Given the description of an element on the screen output the (x, y) to click on. 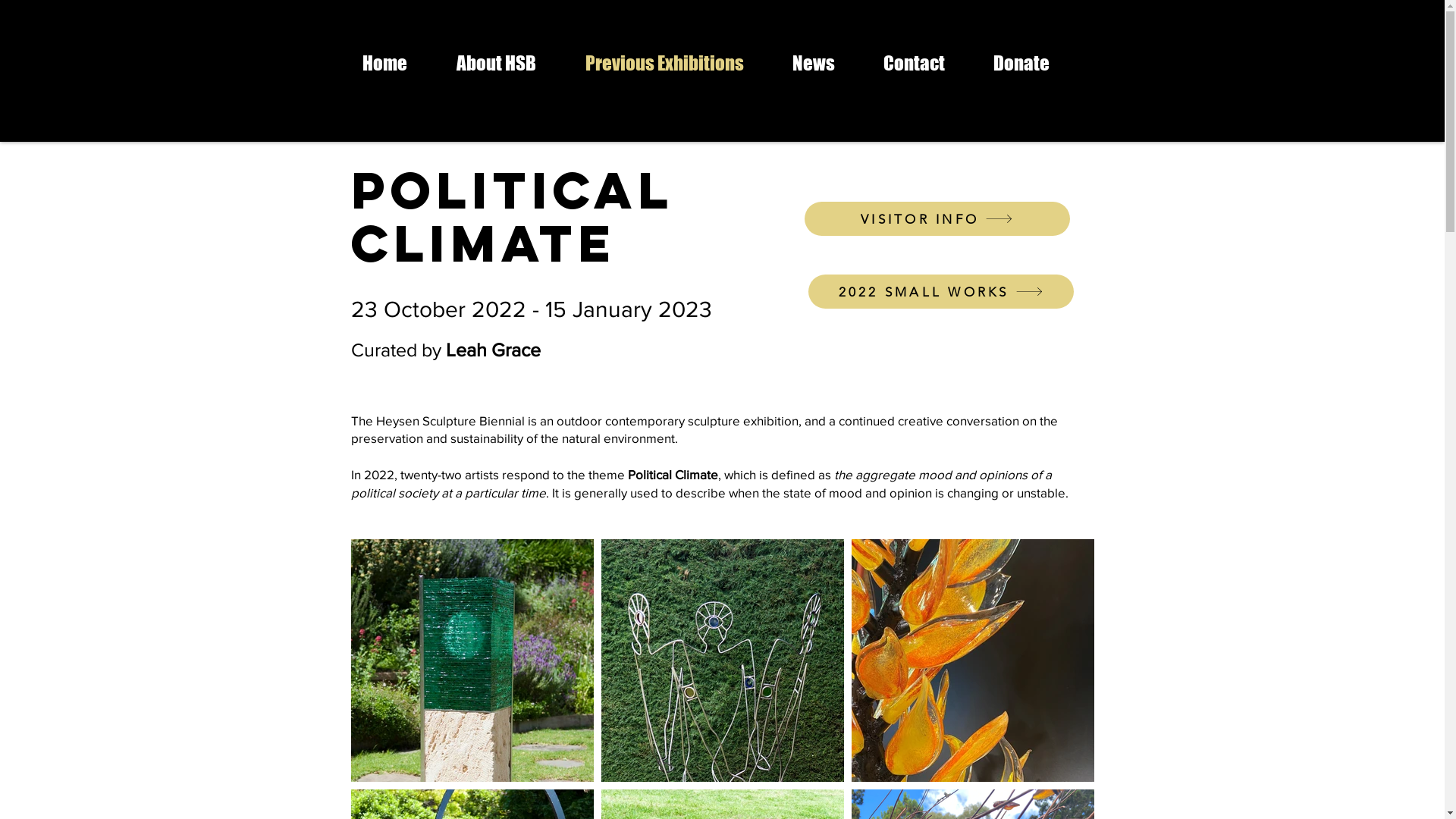
Previous Exhibitions Element type: text (676, 62)
Donate Element type: text (1033, 62)
News Element type: text (826, 62)
Contact Element type: text (927, 62)
VISITOR INFO Element type: text (936, 218)
2022 SMALL WORKS Element type: text (940, 291)
About HSB Element type: text (508, 62)
Home Element type: text (397, 62)
